Given the description of an element on the screen output the (x, y) to click on. 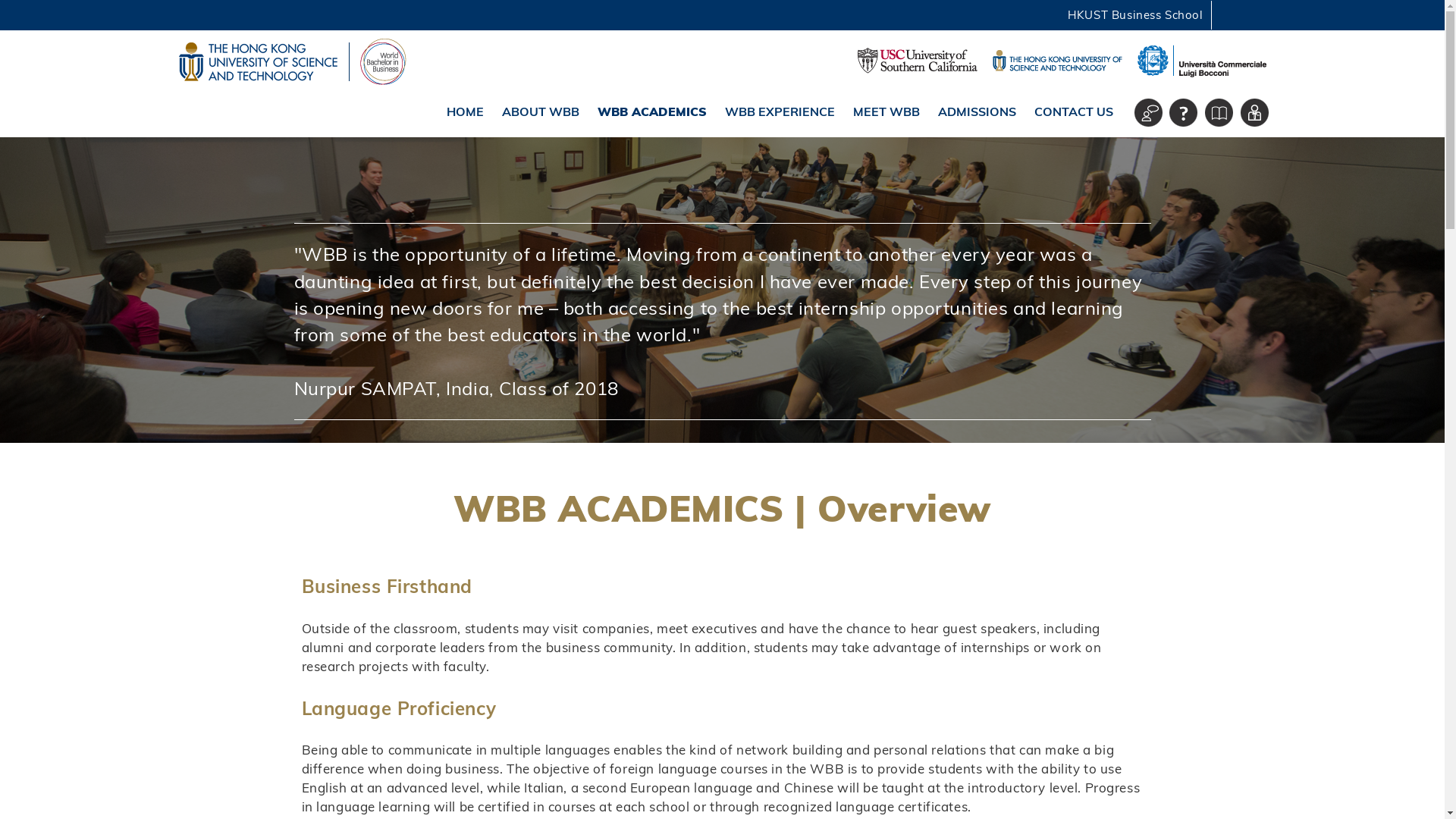
Bocconi University (1201, 60)
The Hong Kong University of Science and Technology (258, 61)
WBB EXPERIENCE (780, 111)
HOME (465, 111)
The Hong Kong University of Science and Technology (1056, 60)
University of Southern California (916, 60)
ADMISSIONS (976, 111)
WBB NOTES TO EMPLOYERS (1254, 112)
ABOUT WBB (540, 111)
WBB BROCHURE (1219, 112)
WBB ACADEMICS (652, 111)
STUDENT BLOG (1147, 112)
FAQS (1182, 112)
HKUST Business School (1134, 14)
CONTACT US (1073, 111)
